Given the description of an element on the screen output the (x, y) to click on. 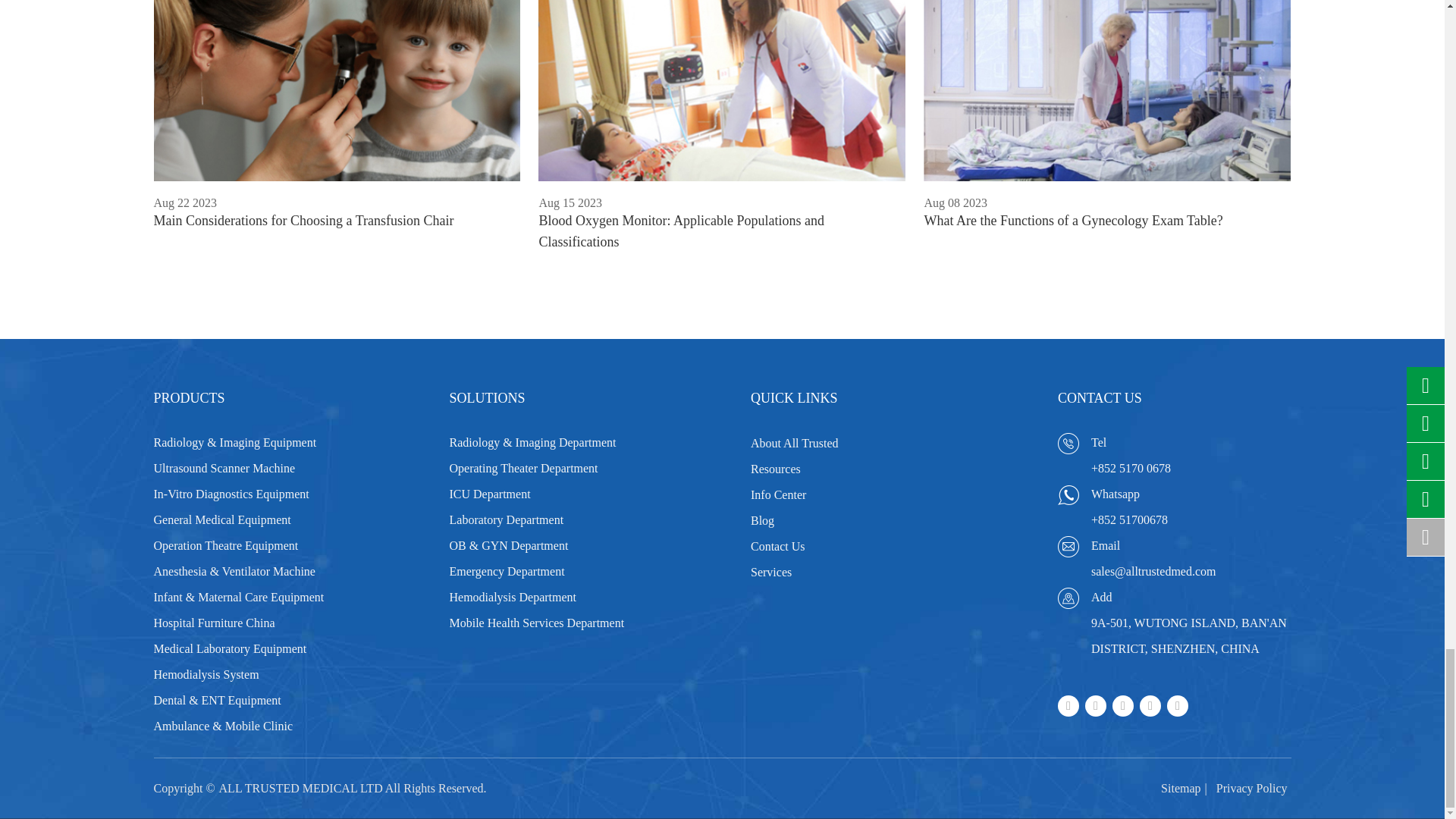
Main Considerations for Choosing a Transfusion Chair (335, 90)
